Given the description of an element on the screen output the (x, y) to click on. 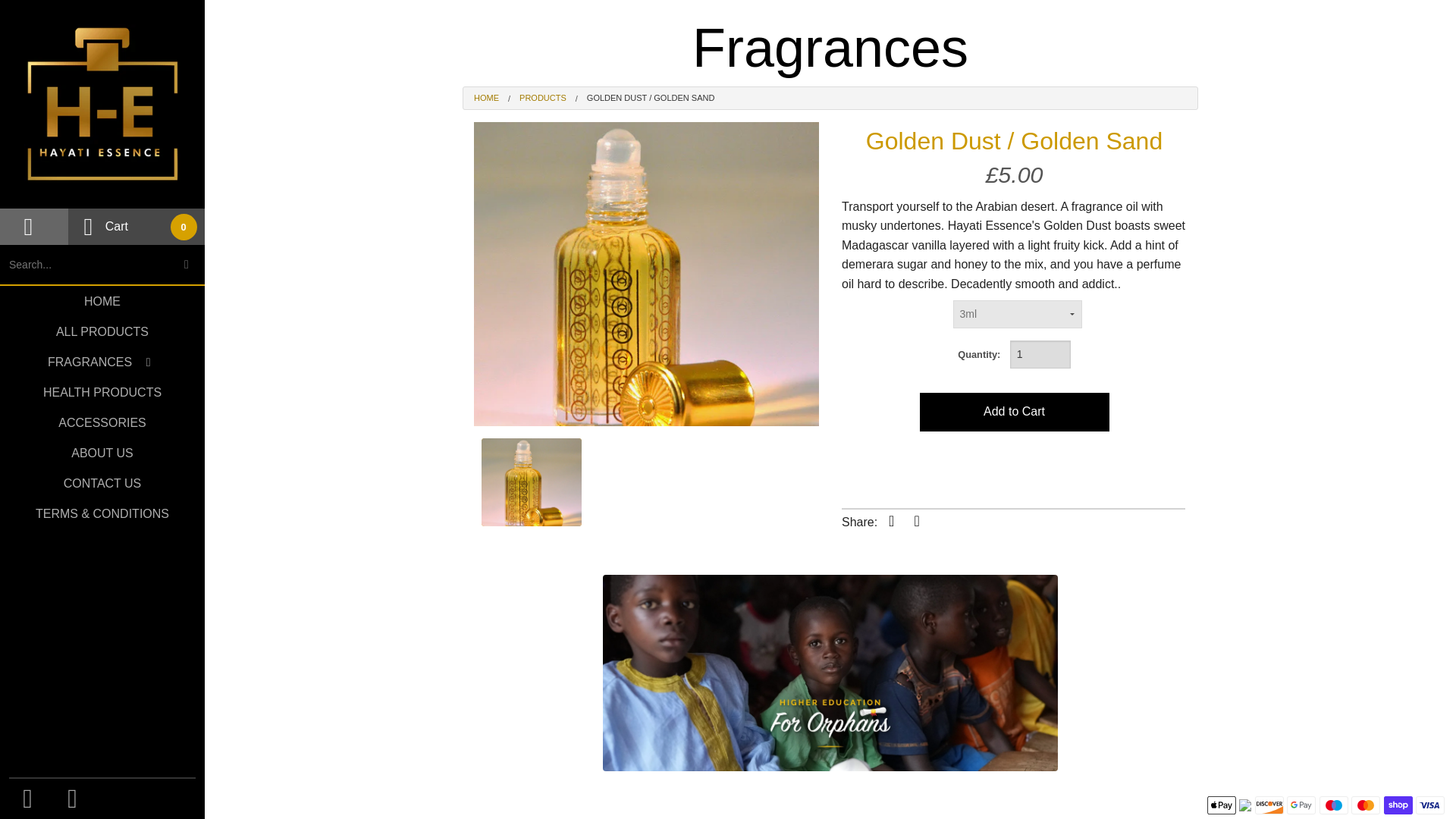
HEALTH PRODUCTS (102, 392)
ALL PRODUCTS (102, 332)
HOME (102, 301)
CONTACT US (102, 483)
PRODUCTS (532, 98)
ABOUT US (102, 453)
HOME (486, 98)
All Products (532, 98)
Login (28, 226)
Hayati Essence  (486, 98)
FRAGRANCES (90, 362)
1 (1040, 353)
ACCESSORIES (102, 423)
Add to Cart (1013, 412)
